Given the description of an element on the screen output the (x, y) to click on. 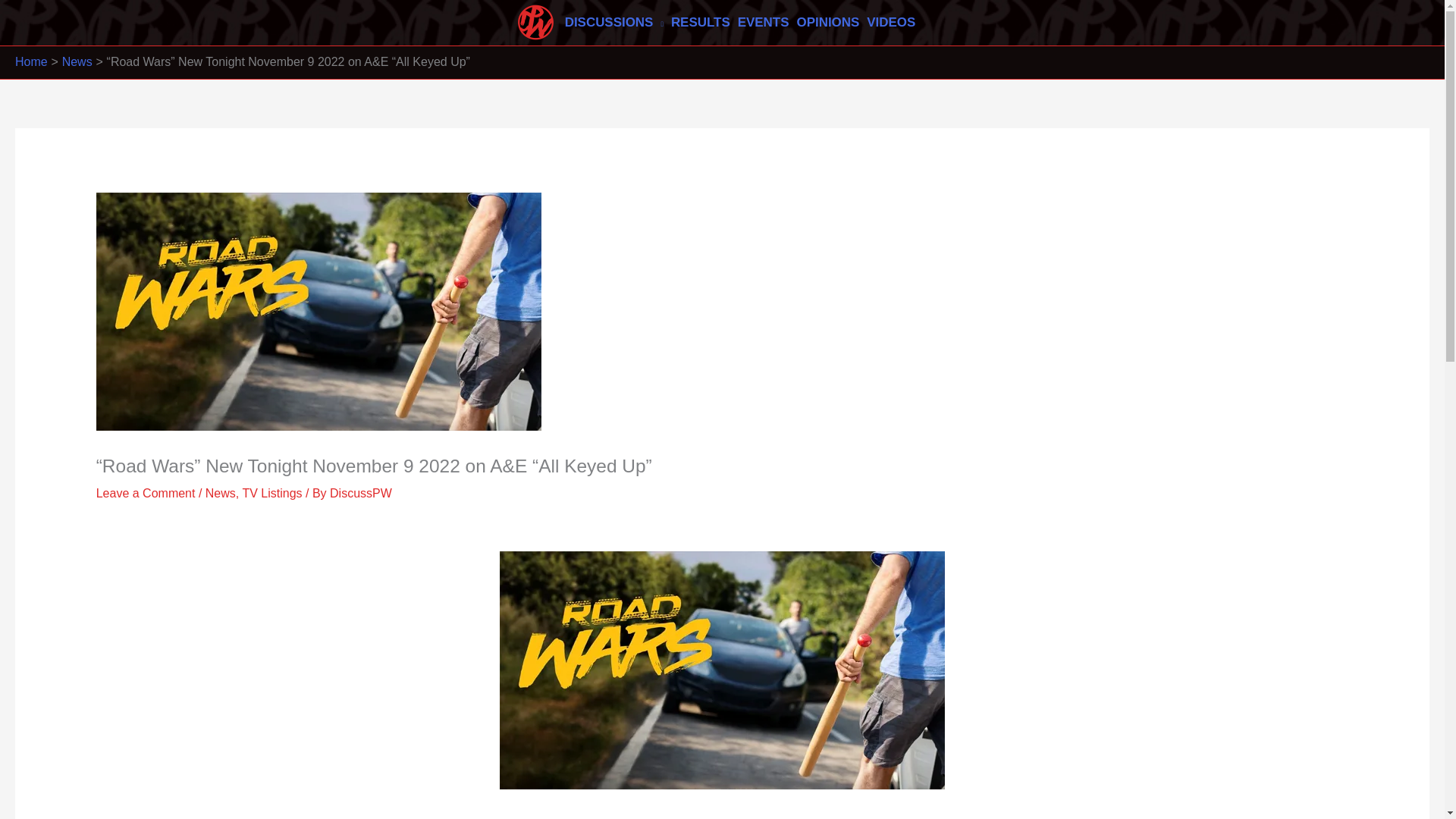
RESULTS (699, 22)
DISCUSSIONS (613, 22)
DiscussPW (360, 492)
Leave a Comment (145, 492)
Home (31, 61)
TV Listings (271, 492)
VIDEOS (890, 22)
News (220, 492)
EVENTS (763, 22)
OPINIONS (827, 22)
News (77, 61)
View all posts by DiscussPW (360, 492)
